Given the description of an element on the screen output the (x, y) to click on. 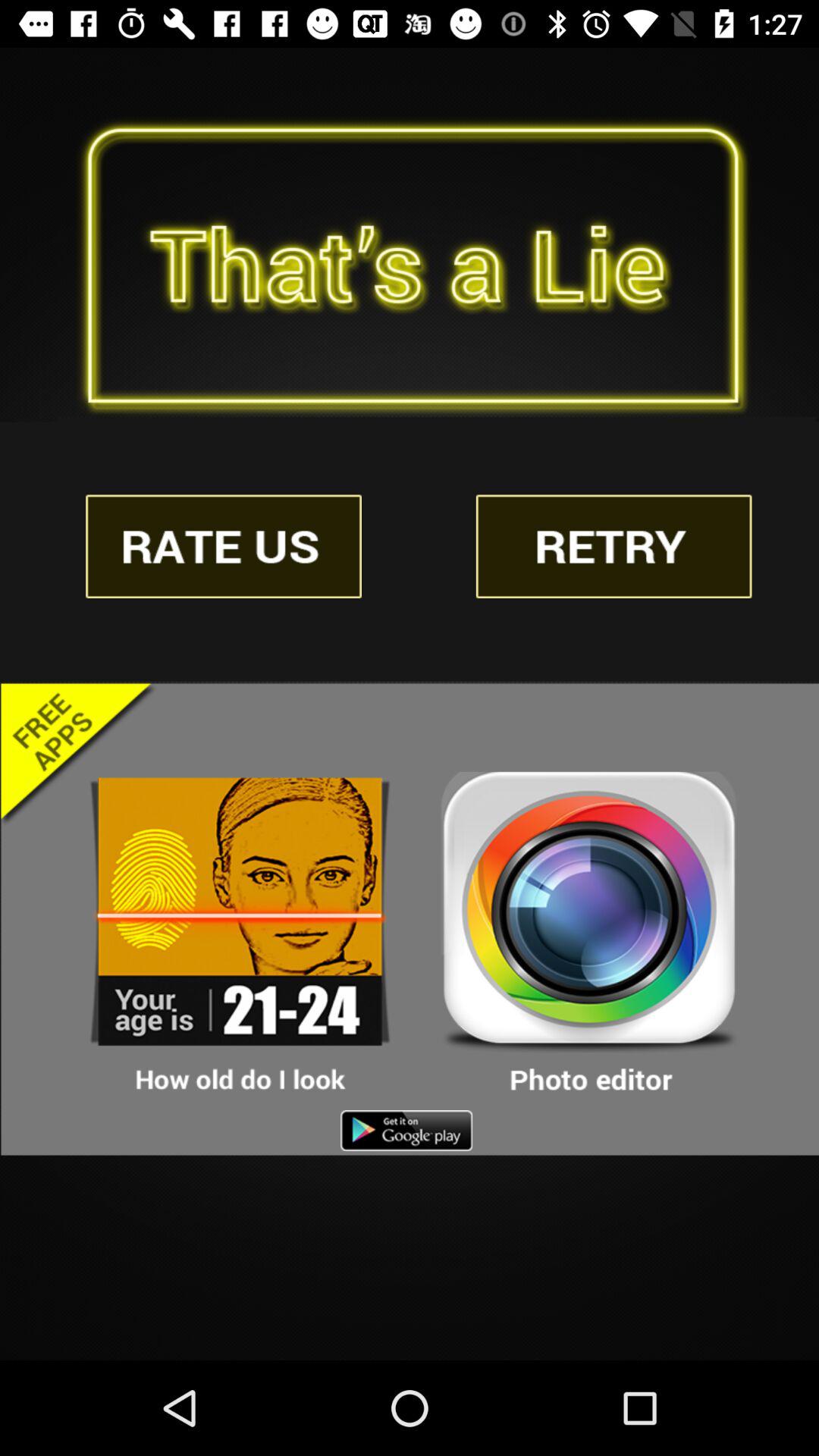
link to free app (240, 933)
